Given the description of an element on the screen output the (x, y) to click on. 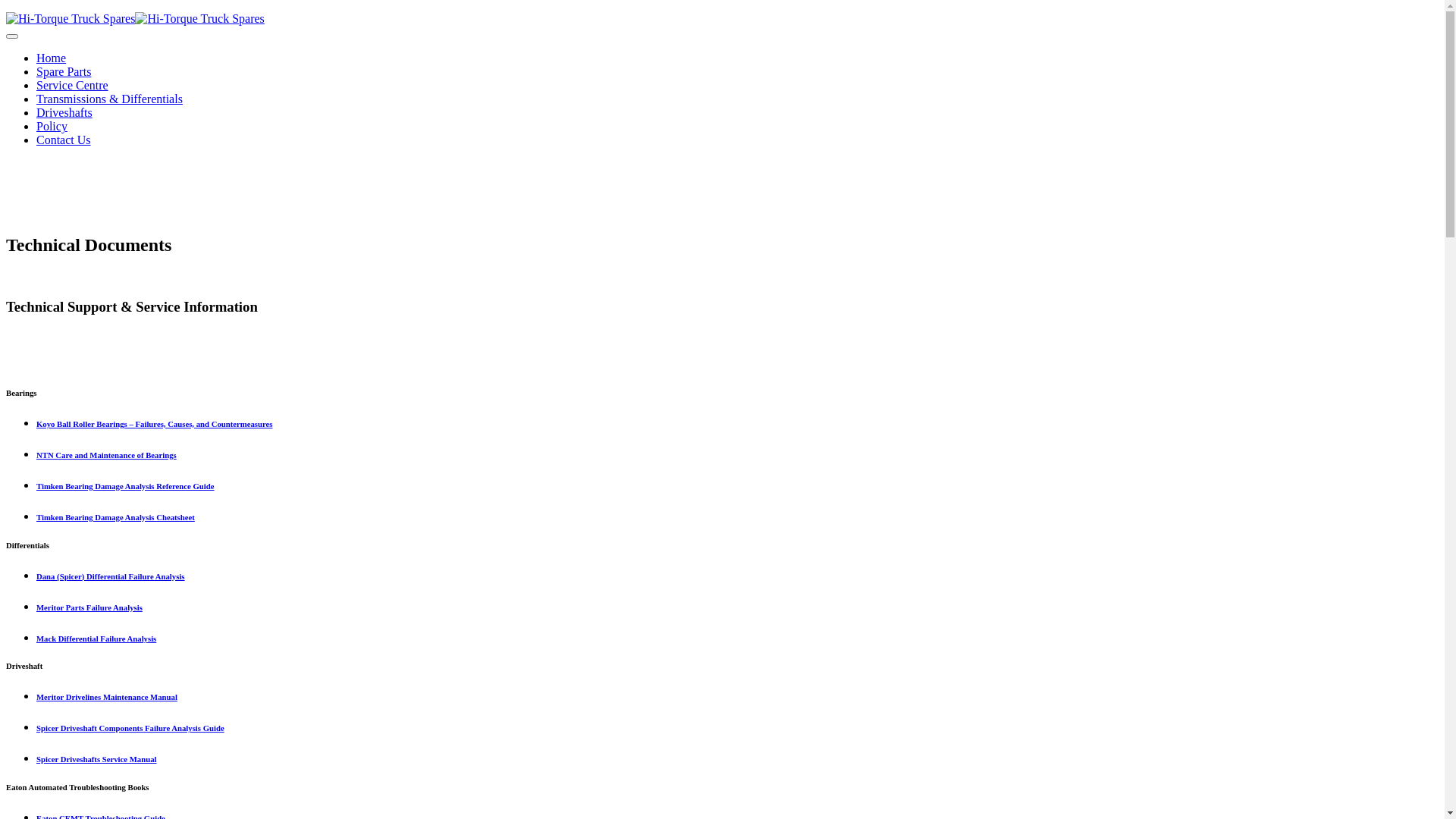
Spare Parts Element type: text (63, 71)
Timken Bearing Damage Analysis Reference Guide Element type: text (125, 485)
Spicer Driveshaft Components Failure Analysis Guide Element type: text (130, 727)
Service Centre Element type: text (72, 84)
Contact Us Element type: text (63, 139)
Transmissions & Differentials Element type: text (109, 98)
Timken Bearing Damage Analysis Cheatsheet Element type: text (115, 516)
Meritor Parts Failure Analysis Element type: text (89, 606)
Spicer Driveshafts Service Manual Element type: text (96, 758)
Mack Differential Failure Analysis Element type: text (96, 638)
Policy Element type: text (51, 125)
NTN Care and Maintenance of Bearings Element type: text (106, 454)
Meritor Drivelines Maintenance Manual Element type: text (106, 696)
Home Element type: text (50, 57)
Driveshafts Element type: text (64, 112)
Dana (Spicer) Differential Failure Analysis Element type: text (110, 575)
